Given the description of an element on the screen output the (x, y) to click on. 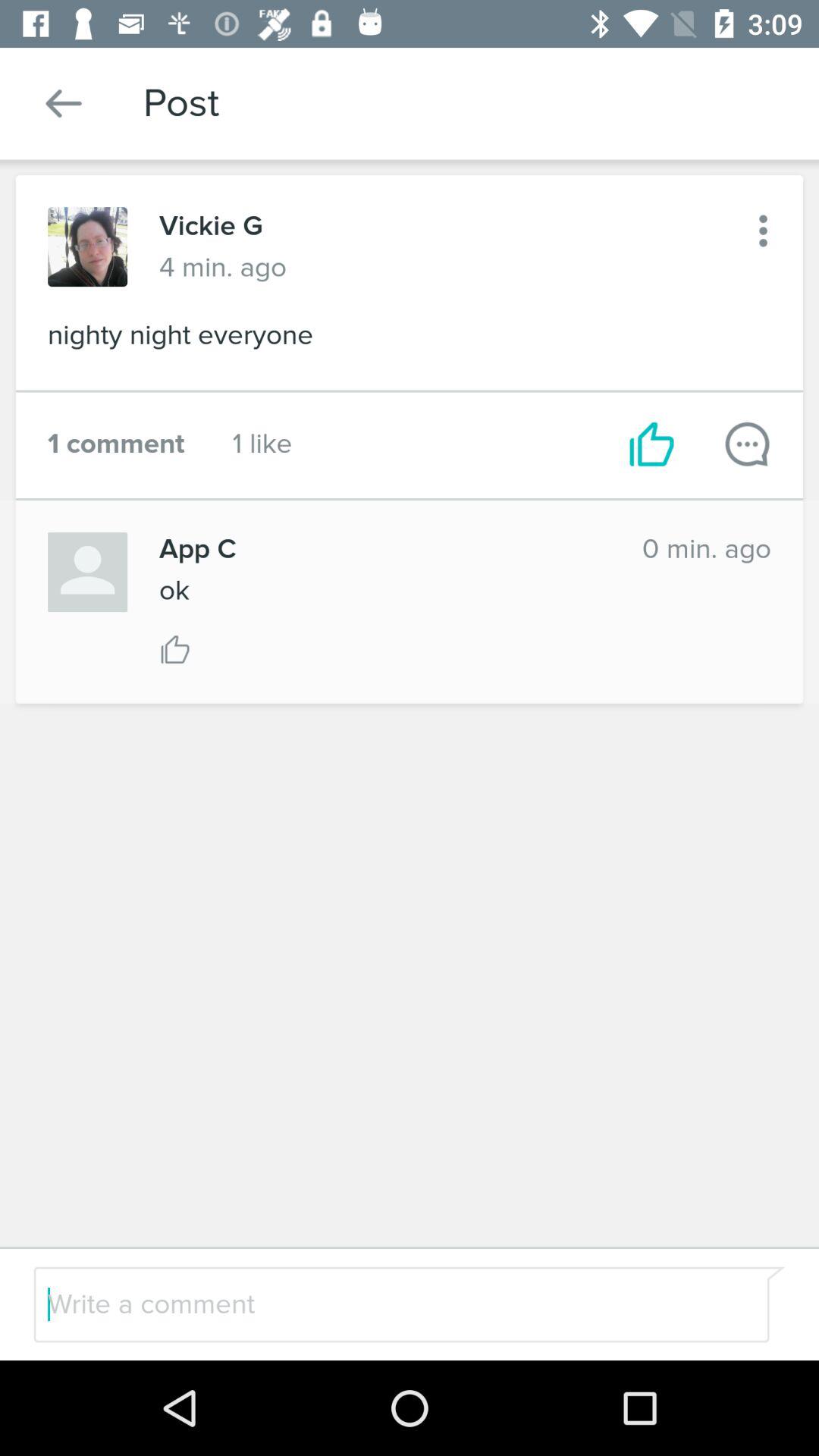
launch the icon to the right of 4 min. ago icon (763, 230)
